Given the description of an element on the screen output the (x, y) to click on. 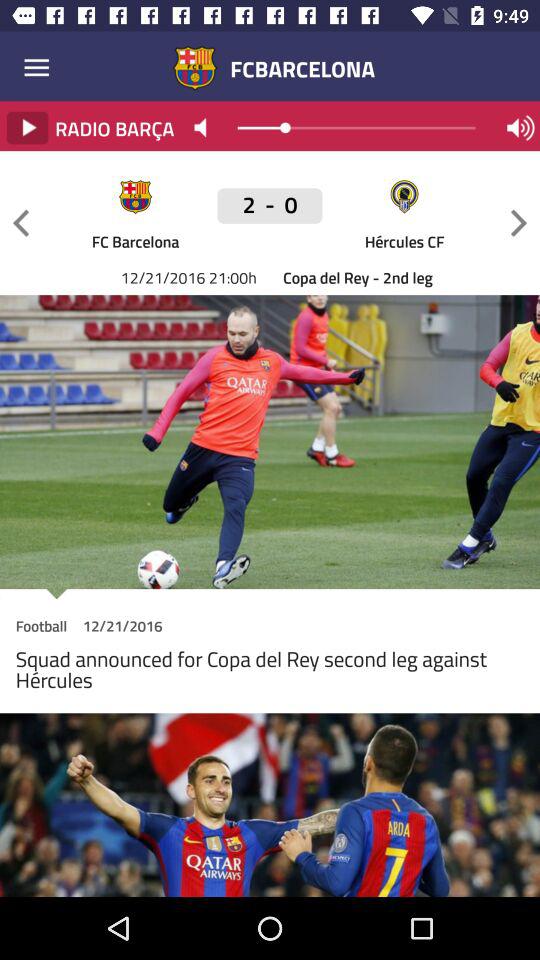
jump until fc barcelona icon (135, 240)
